Given the description of an element on the screen output the (x, y) to click on. 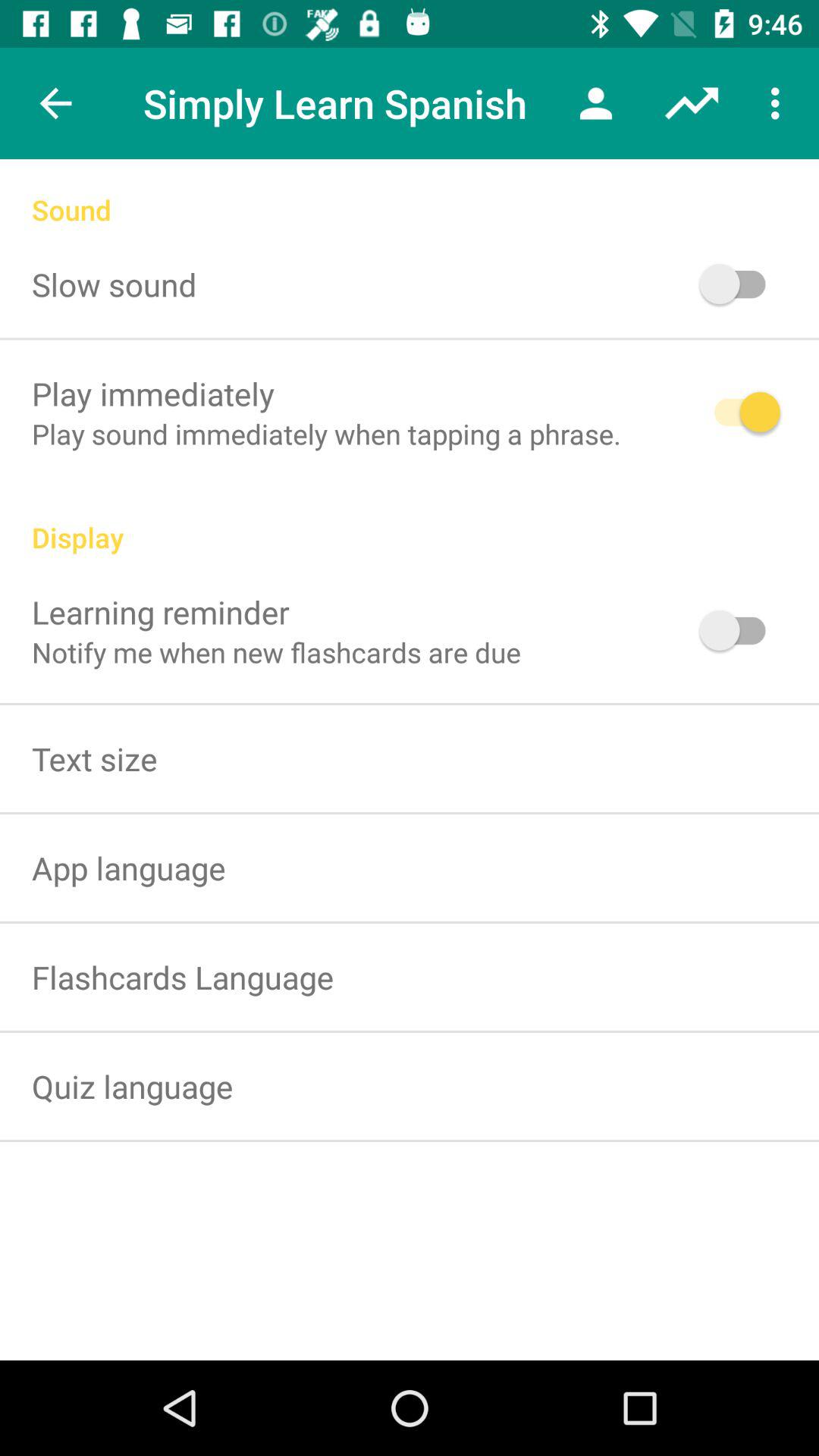
tap item below notify me when (94, 758)
